Given the description of an element on the screen output the (x, y) to click on. 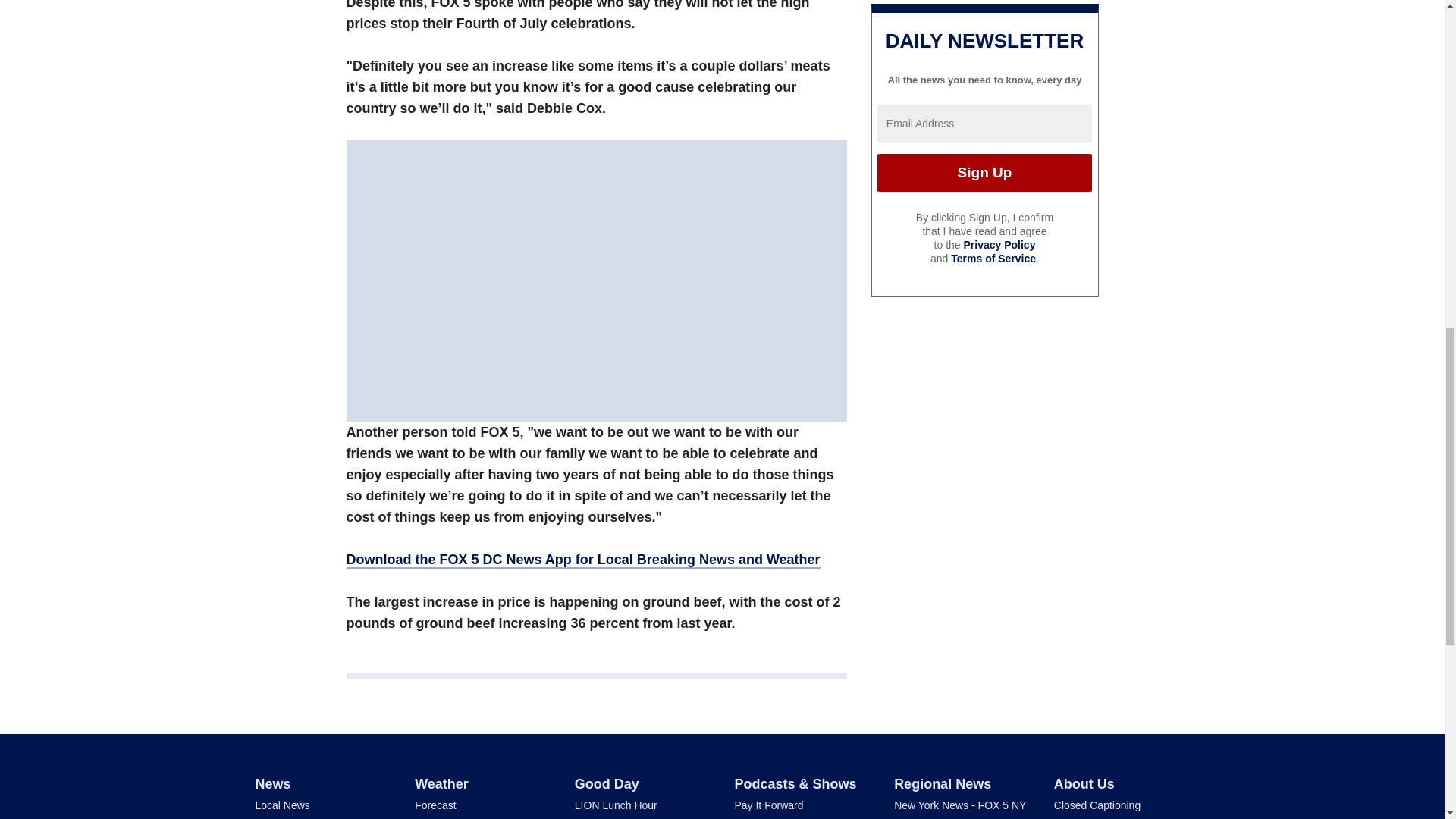
Sign Up (984, 172)
